Given the description of an element on the screen output the (x, y) to click on. 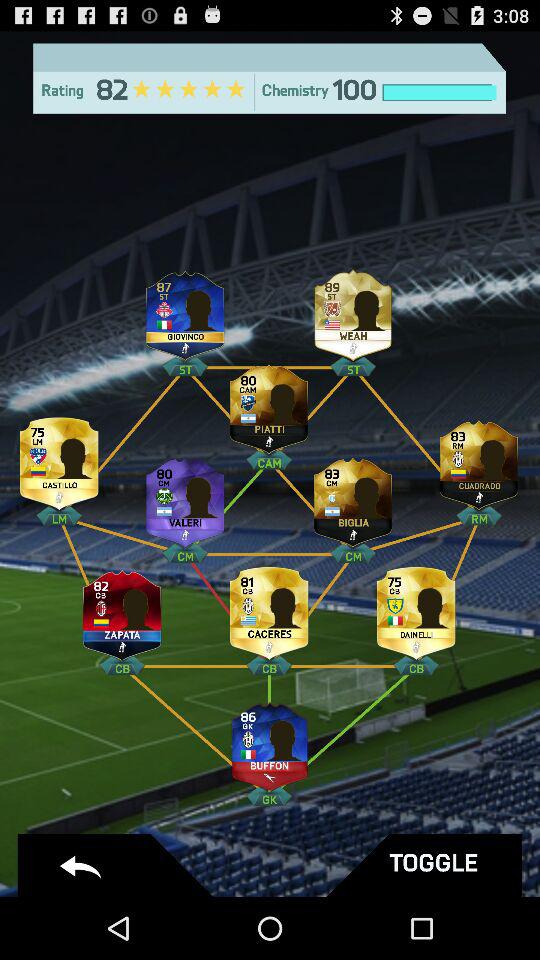
change player (185, 310)
